Given the description of an element on the screen output the (x, y) to click on. 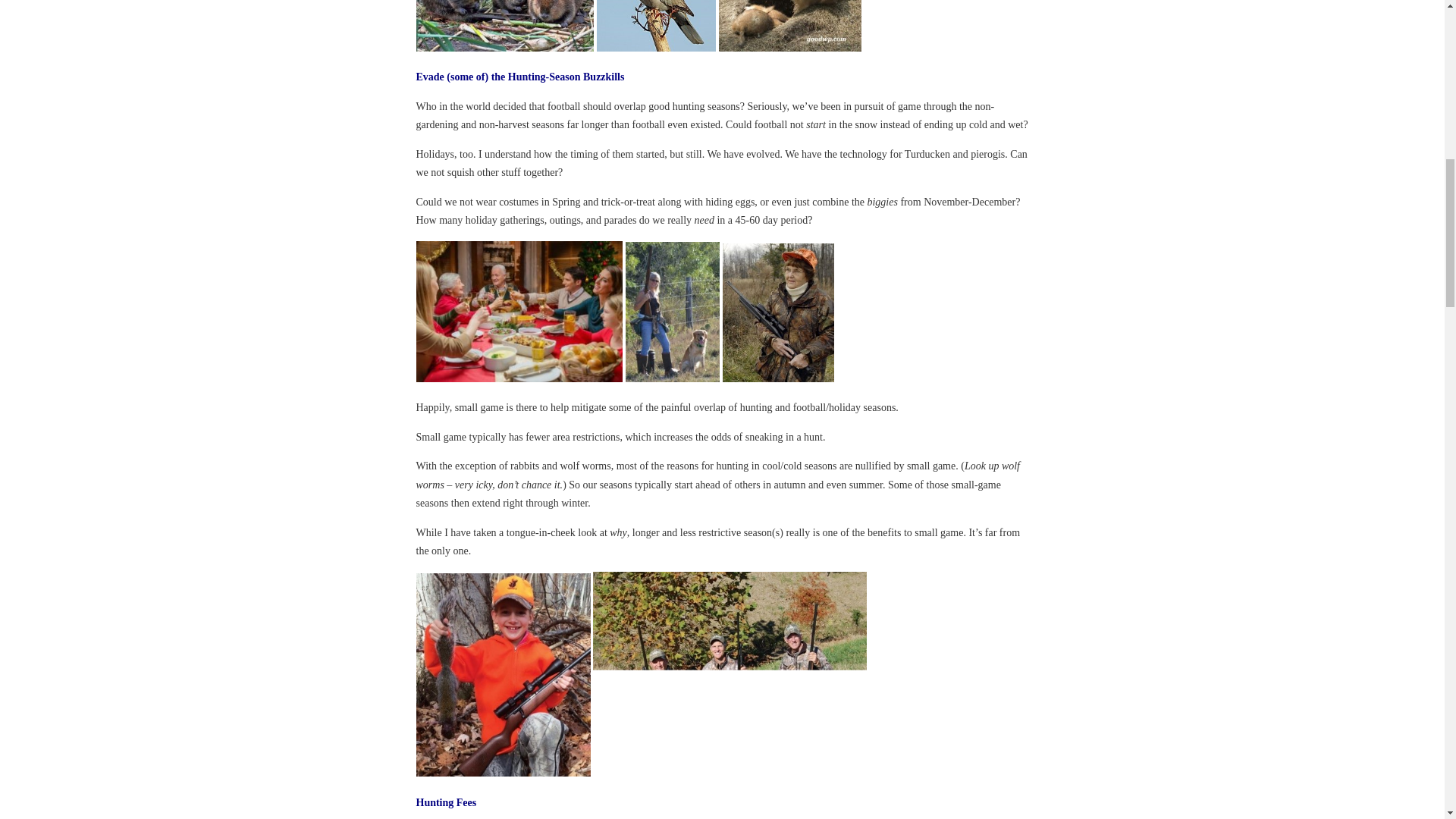
Big Benefits to Small Game 9 (729, 674)
Big Benefits to Small Game 4 (790, 25)
Big Benefits to Small Game 5 (518, 311)
Big Benefits to Small Game 2 (504, 25)
Big Benefits to Small Game 3 (656, 25)
